Given the description of an element on the screen output the (x, y) to click on. 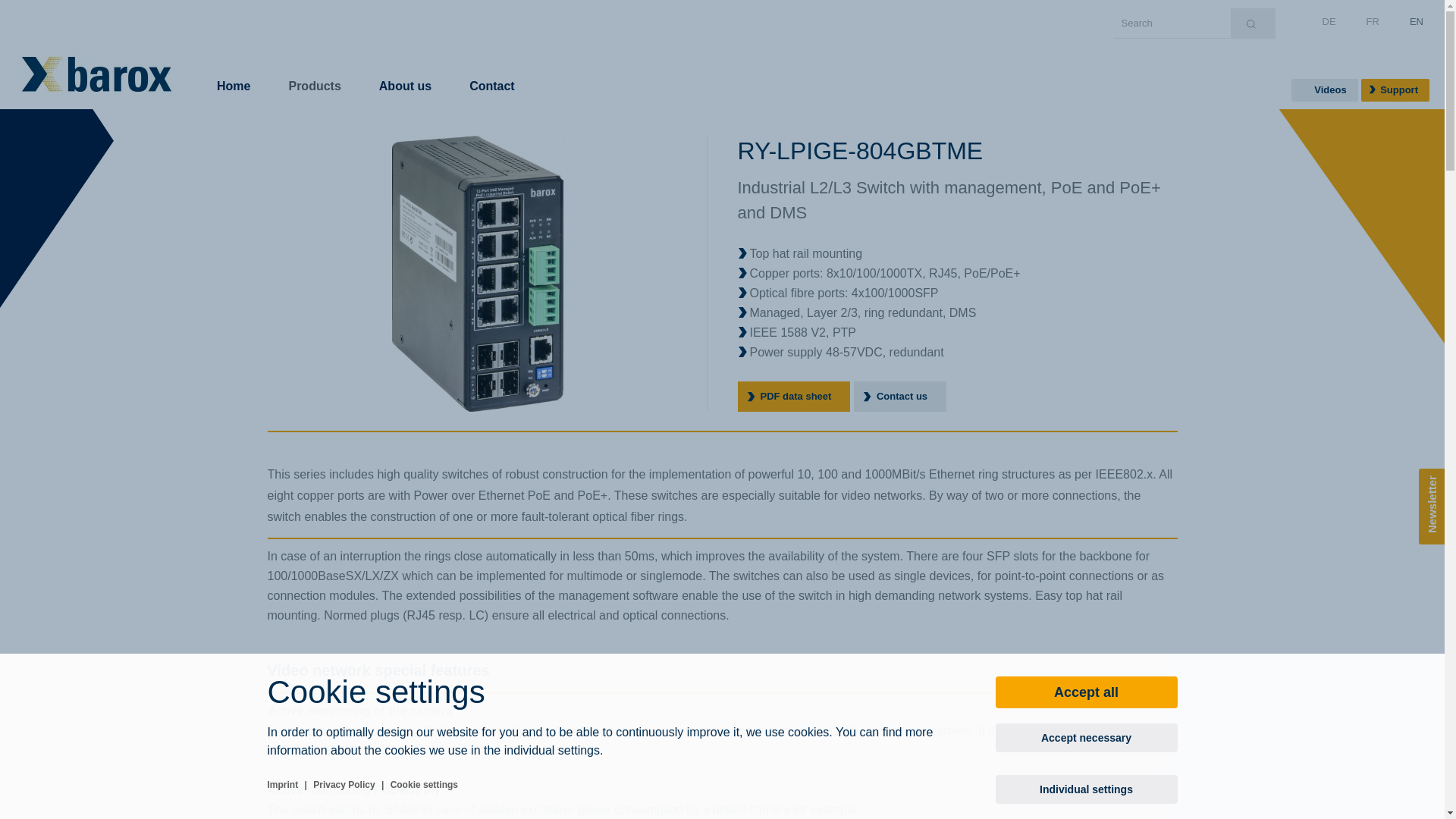
FR Element type: text (1372, 21)
DE Element type: text (1329, 21)
Privacy Policy Element type: text (343, 784)
Accept necessary Element type: text (1085, 737)
Products Element type: text (314, 69)
About us Element type: text (405, 69)
Accept all Element type: text (1085, 692)
Imprint Element type: text (282, 784)
EN Element type: text (1416, 21)
individual settings Element type: text (551, 749)
Videos Element type: text (1324, 89)
Home Element type: text (233, 69)
PDF data sheet Element type: text (793, 396)
Contact us Element type: text (899, 396)
  Element type: text (1252, 23)
Support Element type: text (1395, 89)
Cookie settings Element type: text (424, 784)
Individual settings Element type: text (1085, 789)
Contact Element type: text (491, 69)
